Given the description of an element on the screen output the (x, y) to click on. 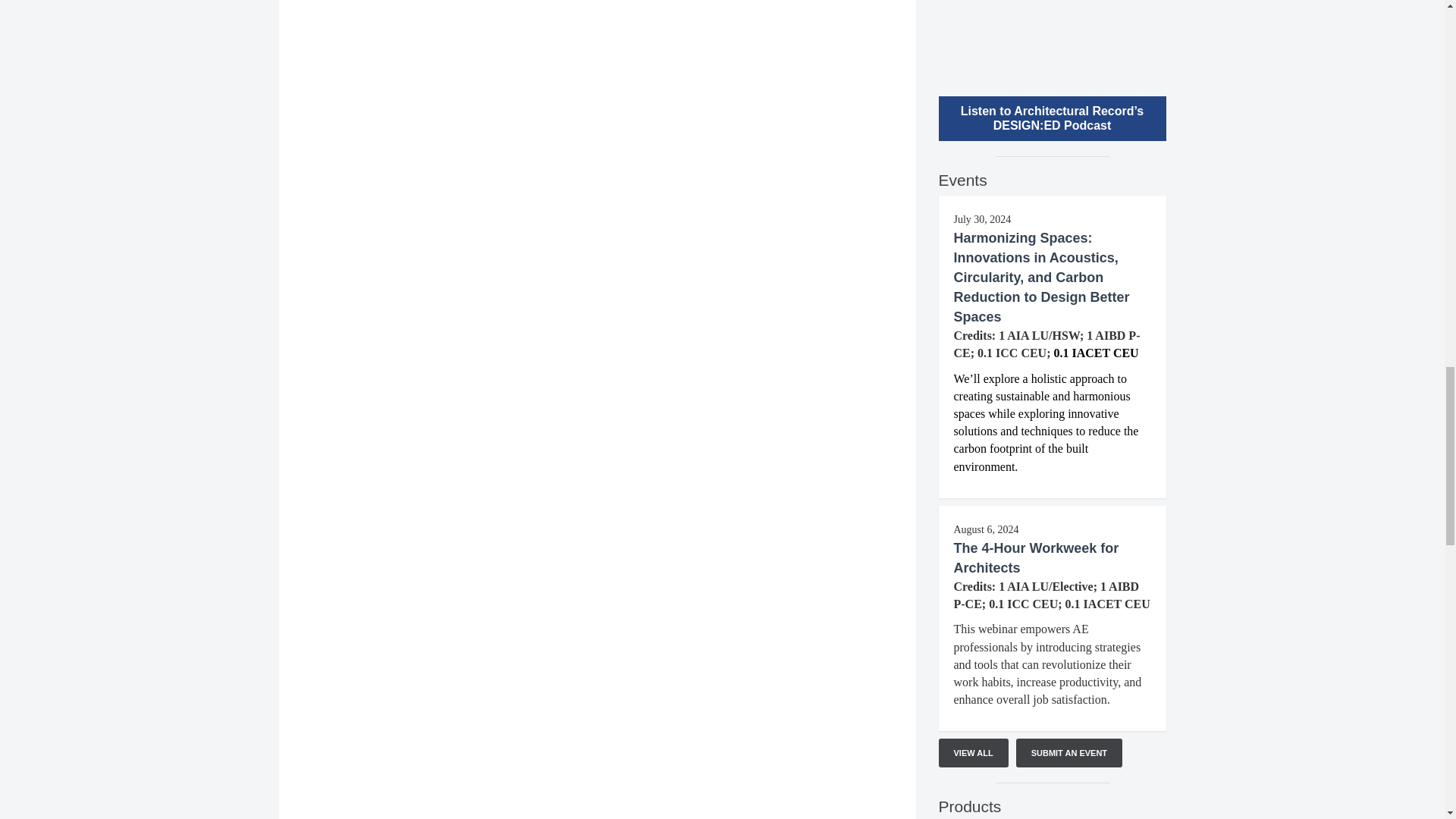
The 4-Hour Workweek for Architects (1036, 557)
